Given the description of an element on the screen output the (x, y) to click on. 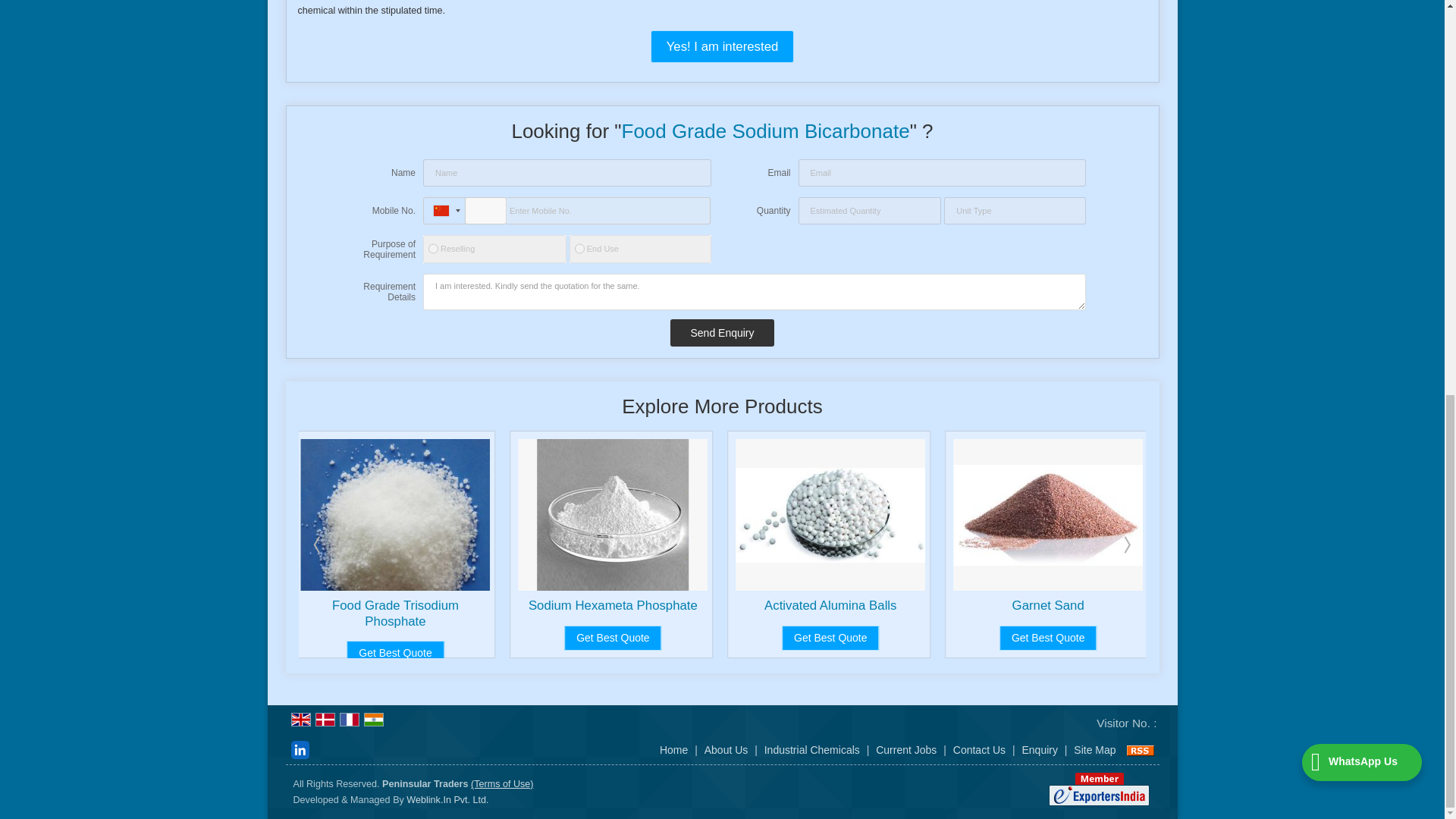
Yes! I am interested (722, 46)
Send Enquiry (721, 332)
Send Enquiry (721, 332)
